Given the description of an element on the screen output the (x, y) to click on. 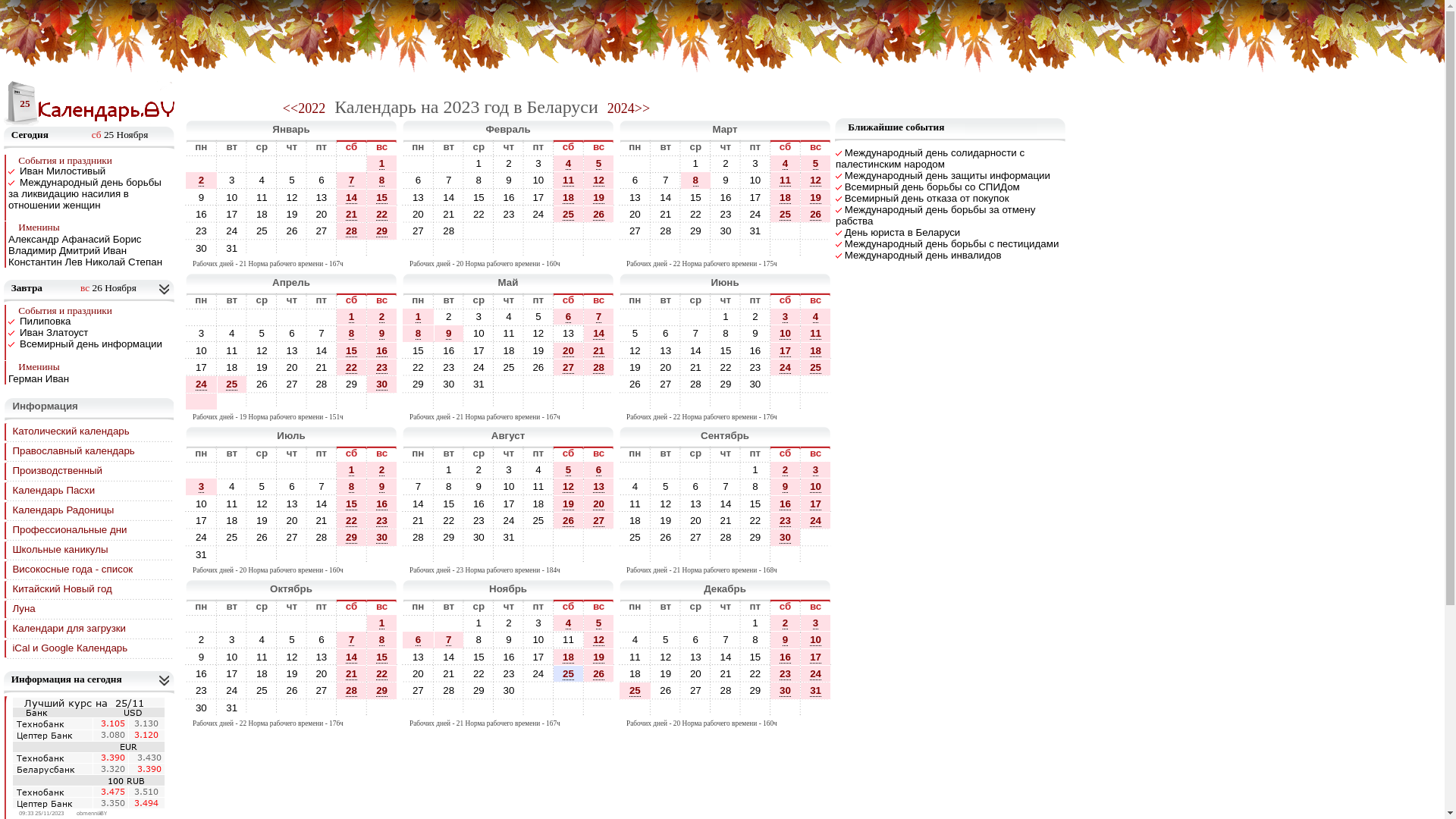
13 Element type: text (665, 350)
15 Element type: text (725, 350)
13 Element type: text (598, 486)
9 Element type: text (479, 486)
20 Element type: text (598, 504)
31 Element type: text (478, 383)
22 Element type: text (448, 520)
2024>> Element type: text (628, 108)
11 Element type: text (815, 333)
  Element type: text (695, 469)
13 Element type: text (568, 332)
13 Element type: text (417, 197)
26 Element type: text (568, 520)
16 Element type: text (200, 214)
10 Element type: text (754, 180)
12 Element type: text (598, 180)
3 Element type: text (508, 469)
10 Element type: text (815, 486)
15 Element type: text (478, 197)
17 Element type: text (784, 351)
28 Element type: text (695, 383)
21 Element type: text (448, 673)
23 Element type: text (201, 690)
9 Element type: text (784, 639)
12 Element type: text (261, 503)
5 Element type: text (261, 486)
10 Element type: text (231, 197)
27 Element type: text (568, 367)
14 Element type: text (448, 657)
30 Element type: text (785, 690)
27 Element type: text (292, 383)
10 Element type: text (537, 639)
  Element type: text (417, 163)
22 Element type: text (695, 214)
  Element type: text (479, 707)
  Element type: text (754, 554)
22 Element type: text (381, 674)
25 Element type: text (568, 214)
15 Element type: text (448, 503)
6 Element type: text (665, 332)
6 Element type: text (634, 180)
4 Element type: text (568, 163)
26 Element type: text (261, 383)
22 Element type: text (478, 213)
22 Element type: text (351, 520)
2 Element type: text (785, 622)
26 Element type: text (262, 537)
9 Element type: text (725, 180)
  Element type: text (568, 248)
27 Element type: text (665, 384)
20 Element type: text (417, 213)
  Element type: text (262, 316)
  Element type: text (634, 401)
23 Element type: text (508, 213)
22 Element type: text (725, 367)
3 Element type: text (200, 332)
25 Element type: text (784, 214)
  Element type: text (538, 384)
20 Element type: text (568, 351)
  Element type: text (665, 163)
18 Element type: text (568, 197)
6 Element type: text (665, 333)
2 Element type: text (478, 469)
  Element type: text (695, 316)
16 Element type: text (784, 504)
26 Element type: text (598, 674)
  Element type: text (321, 248)
19 Element type: text (815, 197)
  Element type: text (479, 401)
16 Element type: text (754, 350)
24 Element type: text (231, 690)
26 Element type: text (815, 214)
29 Element type: text (695, 230)
27 Element type: text (695, 536)
18 Element type: text (815, 351)
14 Element type: text (448, 197)
23 Element type: text (785, 673)
11 Element type: text (634, 657)
  Element type: text (351, 707)
28 Element type: text (725, 536)
30 Element type: text (201, 707)
3 Element type: text (785, 316)
7 Element type: text (725, 486)
21 Element type: text (725, 673)
18 Element type: text (231, 367)
1 Element type: text (695, 163)
18 Element type: text (508, 350)
21 Element type: text (598, 351)
1 Element type: text (448, 469)
24 Element type: text (200, 537)
19 Element type: text (568, 504)
5 Element type: text (665, 639)
29 Element type: text (754, 690)
  Element type: text (508, 230)
11 Element type: text (634, 656)
  Element type: text (634, 707)
  Element type: text (417, 469)
13 Element type: text (292, 503)
24 Element type: text (537, 673)
6 Element type: text (695, 486)
17 Element type: text (200, 520)
  Element type: text (351, 401)
7 Element type: text (598, 316)
25 Element type: text (231, 384)
  Element type: text (231, 554)
  Element type: text (538, 248)
16 Element type: text (381, 351)
19 Element type: text (291, 673)
1 Element type: text (351, 469)
  Element type: text (815, 384)
15 Element type: text (351, 503)
17 Element type: text (201, 367)
21 Element type: text (321, 520)
31 Element type: text (231, 248)
29 Element type: text (381, 690)
19 Element type: text (261, 520)
20 Element type: text (634, 213)
16 Element type: text (448, 350)
13 Element type: text (320, 656)
5 Element type: text (665, 639)
8 Element type: text (417, 333)
8 Element type: text (478, 639)
17 Element type: text (479, 350)
27 Element type: text (634, 230)
20 Element type: text (665, 367)
5 Element type: text (598, 163)
4 Element type: text (634, 639)
6 Element type: text (417, 180)
31 Element type: text (508, 536)
28 Element type: text (417, 537)
7 Element type: text (351, 180)
28 Element type: text (598, 367)
2 Element type: text (508, 163)
29 Element type: text (725, 384)
10 Element type: text (538, 180)
3 Element type: text (231, 639)
7 Element type: text (665, 180)
5 Element type: text (261, 332)
12 Element type: text (292, 197)
21 Element type: text (320, 520)
14 Element type: text (351, 197)
5 Element type: text (568, 470)
16 Element type: text (200, 673)
27 Element type: text (417, 230)
29 Element type: text (351, 537)
15 Element type: text (754, 656)
14 Element type: text (417, 503)
  Element type: text (665, 707)
21 Element type: text (695, 367)
8 Element type: text (351, 333)
15 Element type: text (351, 504)
24 Element type: text (538, 214)
23 Element type: text (479, 520)
30 Element type: text (725, 230)
24 Element type: text (479, 367)
25 Element type: text (785, 214)
27 Element type: text (634, 230)
8 Element type: text (448, 486)
4 Element type: text (634, 486)
14 Element type: text (320, 503)
2 Element type: text (448, 316)
2 Element type: text (200, 639)
23 Element type: text (381, 367)
13 Element type: text (665, 350)
5 Element type: text (815, 163)
30 Element type: text (784, 537)
19 Element type: text (568, 503)
22 Element type: text (754, 673)
12 Element type: text (634, 350)
  Element type: text (448, 163)
4 Element type: text (815, 316)
18 Element type: text (537, 503)
2 Element type: text (754, 316)
11 Element type: text (568, 639)
6 Element type: text (598, 470)
21 Element type: text (448, 213)
24 Element type: text (538, 673)
  Element type: text (634, 469)
10 Element type: text (785, 333)
3 Element type: text (478, 316)
31 Element type: text (231, 248)
  Element type: text (598, 384)
7 Element type: text (448, 180)
27 Element type: text (665, 383)
12 Element type: text (291, 657)
28 Element type: text (351, 690)
5 Element type: text (291, 639)
29 Element type: text (417, 383)
20 Element type: text (598, 503)
29 Element type: text (479, 690)
8 Element type: text (479, 639)
17 Element type: text (508, 503)
  Element type: text (665, 401)
31 Element type: text (231, 707)
9 Element type: text (478, 486)
13 Element type: text (695, 657)
30 Element type: text (784, 690)
31 Element type: text (200, 554)
  Element type: text (695, 248)
4 Element type: text (634, 639)
27 Element type: text (695, 690)
20 Element type: text (568, 350)
14 Element type: text (598, 333)
5 Element type: text (665, 486)
25 Element type: text (231, 384)
  Element type: text (200, 622)
5 Element type: text (634, 332)
3 Element type: text (815, 622)
23 Element type: text (448, 367)
23 Element type: text (754, 367)
  Element type: text (598, 537)
28 Element type: text (725, 690)
11 Element type: text (785, 180)
23 Element type: text (508, 673)
16 Element type: text (508, 656)
24 Element type: text (785, 367)
26 Element type: text (634, 384)
6 Element type: text (568, 316)
23 Element type: text (381, 367)
2 Element type: text (381, 316)
2 Element type: text (784, 470)
9 Element type: text (784, 486)
11 Element type: text (537, 486)
13 Element type: text (634, 197)
15 Element type: text (754, 503)
5 Element type: text (291, 639)
  Element type: text (448, 622)
18 Element type: text (634, 673)
30 Element type: text (508, 690)
4 Element type: text (568, 622)
3 Element type: text (200, 486)
17 Element type: text (231, 673)
25 Element type: text (634, 536)
13 Element type: text (598, 486)
16 Element type: text (201, 673)
20 Element type: text (292, 520)
  Element type: text (321, 469)
  Element type: text (479, 230)
14 Element type: text (351, 657)
28 Element type: text (351, 230)
14 Element type: text (695, 350)
6 Element type: text (291, 332)
13 Element type: text (321, 657)
27 Element type: text (320, 230)
16 Element type: text (508, 197)
11 Element type: text (231, 503)
2 Element type: text (381, 470)
5 Element type: text (291, 180)
15 Element type: text (417, 350)
27 Element type: text (695, 537)
25 Element type: text (815, 367)
19 Element type: text (665, 520)
  Element type: text (291, 248)
2 Element type: text (200, 180)
20 Element type: text (417, 214)
  Element type: text (568, 707)
24 Element type: text (815, 673)
  Element type: text (508, 554)
  Element type: text (815, 401)
16 Element type: text (479, 503)
14 Element type: text (665, 197)
22 Element type: text (381, 214)
11 Element type: text (231, 350)
16 Element type: text (381, 504)
15 Element type: text (448, 503)
19 Element type: text (598, 197)
27 Element type: text (598, 520)
24 Element type: text (508, 520)
24 Element type: text (537, 213)
19 Element type: text (634, 367)
12 Element type: text (598, 639)
21 Element type: text (351, 674)
23 Element type: text (200, 690)
2 Element type: text (508, 622)
27 Element type: text (568, 367)
4 Element type: text (261, 179)
31 Element type: text (815, 690)
20 Element type: text (320, 673)
23 Element type: text (508, 214)
2 Element type: text (381, 316)
  Element type: text (695, 622)
8 Element type: text (351, 486)
16 Element type: text (478, 503)
3 Element type: text (231, 639)
3 Element type: text (784, 316)
10 Element type: text (200, 503)
30 Element type: text (381, 384)
15 Element type: text (479, 197)
  Element type: text (695, 554)
1 Element type: text (381, 623)
20 Element type: text (292, 367)
17 Element type: text (815, 503)
1 Element type: text (381, 622)
9 Element type: text (200, 657)
9 Element type: text (200, 656)
22 Element type: text (417, 367)
8 Element type: text (725, 333)
25 Element type: text (231, 536)
  Element type: text (568, 554)
24 Element type: text (815, 674)
28 Element type: text (321, 384)
30 Element type: text (754, 383)
16 Element type: text (725, 197)
  Element type: text (695, 707)
10 Element type: text (231, 197)
17 Element type: text (200, 367)
24 Element type: text (231, 230)
  Element type: text (417, 707)
16 Element type: text (785, 503)
12 Element type: text (568, 486)
  Element type: text (665, 469)
8 Element type: text (381, 180)
27 Element type: text (291, 384)
12 Element type: text (538, 333)
  Element type: text (291, 401)
11 Element type: text (231, 350)
10 Element type: text (508, 486)
14 Element type: text (448, 197)
8 Element type: text (478, 179)
29 Element type: text (351, 537)
  Element type: text (785, 248)
21 Element type: text (320, 367)
10 Element type: text (201, 350)
25 Element type: text (508, 367)
18 Element type: text (634, 673)
  Element type: text (665, 622)
17 Element type: text (538, 657)
25 Element type: text (262, 230)
1 Element type: text (725, 316)
15 Element type: text (351, 350)
  Element type: text (291, 622)
29 Element type: text (417, 384)
  Element type: text (508, 401)
3 Element type: text (231, 180)
30 Element type: text (725, 230)
  Element type: text (262, 401)
19 Element type: text (292, 673)
  Element type: text (291, 469)
14 Element type: text (725, 503)
7 Element type: text (351, 639)
18 Element type: text (231, 367)
27 Element type: text (292, 536)
3 Element type: text (537, 163)
17 Element type: text (538, 197)
26 Element type: text (634, 383)
2 Element type: text (479, 469)
  Element type: text (479, 248)
18 Element type: text (568, 657)
14 Element type: text (351, 657)
24 Element type: text (201, 536)
29 Element type: text (695, 230)
6 Element type: text (291, 486)
27 Element type: text (417, 230)
  Element type: text (321, 622)
19 Element type: text (665, 520)
29 Element type: text (448, 536)
  Element type: text (725, 401)
  Element type: text (665, 554)
14 Element type: text (321, 503)
22 Element type: text (754, 673)
  Element type: text (598, 707)
30 Element type: text (754, 384)
29 Element type: text (725, 383)
4 Element type: text (508, 316)
25 Element type: text (262, 690)
29 Element type: text (381, 230)
7 Element type: text (695, 332)
27 Element type: text (598, 520)
3 Element type: text (537, 622)
5 Element type: text (291, 179)
30 Element type: text (201, 248)
28 Element type: text (351, 690)
3 Element type: text (538, 622)
28 Element type: text (320, 383)
2 Element type: text (381, 469)
23 Element type: text (754, 367)
28 Element type: text (351, 231)
21 Element type: text (598, 350)
23 Element type: text (381, 520)
28 Element type: text (665, 230)
  Element type: text (815, 707)
16 Element type: text (381, 503)
13 Element type: text (417, 657)
9 Element type: text (200, 197)
17 Element type: text (754, 197)
8 Element type: text (417, 333)
21 Element type: text (351, 214)
2 Element type: text (785, 469)
11 Element type: text (261, 197)
  Element type: text (634, 248)
17 Element type: text (754, 197)
15 Element type: text (351, 351)
18 Element type: text (815, 350)
2 Element type: text (725, 163)
1 Element type: text (381, 163)
12 Element type: text (665, 656)
5 Element type: text (598, 623)
12 Element type: text (598, 639)
2 Element type: text (754, 316)
  Element type: text (568, 384)
  Element type: text (598, 248)
12 Element type: text (665, 657)
1 Element type: text (725, 316)
8 Element type: text (448, 486)
  Element type: text (634, 554)
26 Element type: text (292, 690)
  Element type: text (262, 469)
19 Element type: text (537, 350)
  Element type: text (568, 401)
21 Element type: text (417, 520)
14 Element type: text (725, 656)
26 Element type: text (261, 536)
22 Element type: text (448, 520)
4 Element type: text (261, 639)
4 Element type: text (231, 332)
7 Element type: text (448, 179)
3 Element type: text (479, 316)
4 Element type: text (784, 163)
  Element type: text (725, 707)
16 Element type: text (508, 197)
11 Element type: text (231, 503)
5 Element type: text (537, 316)
3 Element type: text (815, 469)
11 Element type: text (538, 486)
4 Element type: text (815, 316)
28 Element type: text (725, 690)
8 Element type: text (381, 639)
20 Element type: text (291, 520)
27 Element type: text (417, 690)
19 Element type: text (262, 367)
  Element type: text (417, 401)
21 Element type: text (321, 367)
13 Element type: text (695, 656)
8 Element type: text (754, 639)
4 Element type: text (262, 180)
16 Element type: text (784, 657)
16 Element type: text (201, 213)
2 Element type: text (508, 622)
   25 Element type: text (21, 103)
  Element type: text (634, 622)
20 Element type: text (695, 520)
17 Element type: text (815, 657)
  Element type: text (351, 622)
28 Element type: text (448, 690)
  Element type: text (725, 469)
  Element type: text (815, 230)
15 Element type: text (478, 656)
26 Element type: text (815, 214)
26 Element type: text (665, 690)
23 Element type: text (784, 520)
29 Element type: text (351, 384)
19 Element type: text (634, 367)
22 Element type: text (478, 673)
29 Element type: text (754, 690)
23 Element type: text (478, 520)
22 Element type: text (381, 214)
  Element type: text (262, 248)
9 Element type: text (508, 639)
17 Element type: text (231, 673)
18 Element type: text (231, 520)
3 Element type: text (815, 470)
  Element type: text (568, 690)
1 Element type: text (448, 469)
10 Element type: text (538, 639)
3 Element type: text (754, 163)
5 Element type: text (262, 333)
9 Element type: text (381, 333)
22 Element type: text (351, 367)
11 Element type: text (784, 180)
10 Element type: text (201, 503)
31 Element type: text (508, 537)
17 Element type: text (537, 197)
19 Element type: text (292, 213)
5 Element type: text (634, 333)
19 Element type: text (262, 520)
26 Element type: text (291, 690)
10 Element type: text (537, 179)
19 Element type: text (598, 657)
7 Element type: text (417, 486)
4 Element type: text (231, 486)
25 Element type: text (568, 214)
9 Element type: text (785, 639)
8 Element type: text (381, 180)
8 Element type: text (725, 332)
2 Element type: text (725, 163)
6 Element type: text (695, 639)
1 Element type: text (754, 622)
16 Element type: text (785, 657)
6 Element type: text (695, 486)
20 Element type: text (321, 673)
28 Element type: text (448, 230)
  Element type: text (785, 401)
12 Element type: text (665, 503)
1 Element type: text (479, 622)
  Element type: text (568, 537)
29 Element type: text (754, 536)
1 Element type: text (381, 163)
5 Element type: text (598, 622)
  Element type: text (291, 554)
  Element type: text (231, 622)
18 Element type: text (784, 197)
20 Element type: text (417, 673)
14 Element type: text (321, 350)
13 Element type: text (695, 503)
  Element type: text (665, 316)
26 Element type: text (598, 673)
17 Element type: text (815, 657)
14 Element type: text (448, 656)
29 Element type: text (478, 690)
21 Element type: text (448, 214)
  Element type: text (785, 554)
13 Element type: text (634, 197)
  Element type: text (351, 163)
18 Element type: text (508, 350)
12 Element type: text (261, 350)
24 Element type: text (508, 520)
  Element type: text (754, 248)
14 Element type: text (417, 503)
23 Element type: text (201, 230)
  Element type: text (538, 537)
25 Element type: text (537, 520)
17 Element type: text (508, 503)
8 Element type: text (479, 180)
11 Element type: text (508, 332)
10 Element type: text (231, 656)
20 Element type: text (417, 673)
  Element type: text (568, 230)
15 Element type: text (381, 197)
15 Element type: text (725, 350)
6 Element type: text (320, 639)
11 Element type: text (634, 503)
  Element type: text (262, 622)
7 Element type: text (448, 639)
5 Element type: text (665, 486)
9 Element type: text (448, 333)
30 Element type: text (381, 537)
7 Element type: text (448, 639)
13 Element type: text (291, 350)
7 Element type: text (725, 486)
  Element type: text (538, 707)
2 Element type: text (784, 623)
7 Element type: text (351, 639)
2 Element type: text (200, 180)
  Element type: text (381, 707)
8 Element type: text (351, 486)
  Element type: text (695, 401)
31 Element type: text (754, 230)
16 Element type: text (448, 350)
26 Element type: text (262, 384)
  Element type: text (598, 401)
6 Element type: text (695, 639)
6 Element type: text (291, 486)
18 Element type: text (231, 520)
12 Element type: text (292, 656)
30 Element type: text (200, 248)
21 Element type: text (448, 673)
8 Element type: text (754, 486)
11 Element type: text (508, 333)
4 Element type: text (568, 163)
10 Element type: text (508, 486)
19 Element type: text (815, 197)
  Element type: text (634, 316)
22 Element type: text (381, 673)
8 Element type: text (381, 639)
  Element type: text (754, 707)
4 Element type: text (785, 163)
28 Element type: text (417, 536)
18 Element type: text (262, 673)
26 Element type: text (291, 230)
24 Element type: text (754, 214)
20 Element type: text (665, 367)
  Element type: text (508, 384)
23 Element type: text (784, 674)
14 Element type: text (598, 333)
26 Element type: text (568, 520)
13 Element type: text (291, 503)
19 Element type: text (598, 657)
28 Element type: text (695, 384)
25 Element type: text (261, 690)
  Element type: text (754, 401)
  Element type: text (538, 554)
2 Element type: text (200, 639)
  Element type: text (381, 248)
7 Element type: text (725, 639)
4 Element type: text (537, 469)
21 Element type: text (351, 673)
19 Element type: text (665, 673)
  Element type: text (321, 401)
  Element type: text (598, 230)
30 Element type: text (381, 384)
26 Element type: text (598, 214)
18 Element type: text (785, 197)
  Element type: text (231, 469)
5 Element type: text (598, 163)
13 Element type: text (320, 197)
  Element type: text (351, 248)
15 Element type: text (381, 657)
12 Element type: text (634, 350)
1 Element type: text (479, 163)
6 Element type: text (634, 179)
  Element type: text (200, 469)
21 Element type: text (351, 214)
  Element type: text (262, 707)
  Element type: text (815, 248)
17 Element type: text (478, 350)
7 Element type: text (320, 332)
24 Element type: text (201, 384)
1 Element type: text (754, 622)
30 Element type: text (508, 690)
30 Element type: text (479, 537)
29 Element type: text (381, 690)
26 Element type: text (665, 536)
3 Element type: text (231, 179)
31 Element type: text (479, 384)
  Element type: text (321, 316)
19 Element type: text (538, 350)
21 Element type: text (725, 520)
5 Element type: text (815, 163)
21 Element type: text (725, 673)
28 Element type: text (448, 690)
7 Element type: text (321, 486)
27 Element type: text (695, 690)
31 Element type: text (231, 707)
13 Element type: text (417, 197)
14 Element type: text (320, 350)
4 Element type: text (231, 486)
6 Element type: text (417, 639)
  Element type: text (598, 554)
15 Element type: text (479, 657)
25 Element type: text (538, 520)
  Element type: text (448, 401)
13 Element type: text (568, 333)
20 Element type: text (321, 214)
15 Element type: text (381, 197)
25 Element type: text (508, 367)
17 Element type: text (815, 504)
  Element type: text (785, 384)
24 Element type: text (231, 690)
16 Element type: text (508, 657)
30 Element type: text (785, 537)
18 Element type: text (634, 520)
30 Element type: text (381, 537)
11 Element type: text (568, 180)
9 Element type: text (381, 486)
9 Element type: text (508, 179)
  Element type: text (508, 248)
  Element type: text (231, 163)
9 Element type: text (508, 639)
27 Element type: text (417, 690)
1 Element type: text (695, 163)
  Element type: text (785, 707)
6 Element type: text (417, 639)
26 Element type: text (538, 367)
6 Element type: text (598, 469)
22 Element type: text (351, 520)
  Element type: text (381, 401)
3 Element type: text (508, 469)
  Element type: text (231, 316)
28 Element type: text (448, 230)
4 Element type: text (262, 639)
10 Element type: text (479, 333)
  Element type: text (725, 622)
20 Element type: text (695, 673)
12 Element type: text (568, 486)
4 Element type: text (231, 333)
9 Element type: text (381, 333)
8 Element type: text (351, 333)
  Element type: text (291, 316)
  Element type: text (200, 316)
21 Element type: text (417, 520)
19 Element type: text (291, 214)
5 Element type: text (262, 486)
28 Element type: text (320, 536)
9 Element type: text (785, 486)
27 Element type: text (321, 230)
  Element type: text (231, 401)
26 Element type: text (598, 214)
25 Element type: text (815, 367)
10 Element type: text (815, 639)
7 Element type: text (665, 179)
24 Element type: text (478, 367)
  Element type: text (725, 554)
11 Element type: text (568, 639)
  Element type: text (200, 401)
7 Element type: text (598, 316)
21 Element type: text (725, 520)
  Element type: text (291, 707)
8 Element type: text (695, 180)
27 Element type: text (320, 690)
7 Element type: text (320, 486)
3 Element type: text (200, 333)
23 Element type: text (448, 367)
13 Element type: text (292, 350)
  Element type: text (725, 248)
31 Element type: text (754, 230)
18 Element type: text (538, 503)
11 Element type: text (262, 657)
23 Element type: text (725, 214)
22 Element type: text (479, 214)
21 Element type: text (665, 213)
10 Element type: text (754, 179)
11 Element type: text (261, 656)
17 Element type: text (231, 213)
1 Element type: text (417, 316)
29 Element type: text (351, 383)
16 Element type: text (725, 197)
9 Element type: text (200, 197)
2 Element type: text (508, 163)
14 Element type: text (695, 350)
17 Element type: text (785, 350)
24 Element type: text (784, 367)
  Element type: text (508, 707)
13 Element type: text (695, 503)
22 Element type: text (725, 367)
  Element type: text (448, 554)
15 Element type: text (695, 197)
21 Element type: text (665, 214)
15 Element type: text (381, 657)
12 Element type: text (291, 197)
11 Element type: text (262, 197)
22 Element type: text (417, 367)
3 Element type: text (754, 163)
3 Element type: text (815, 623)
7 Element type: text (321, 333)
6 Element type: text (568, 316)
23 Element type: text (381, 520)
1 Element type: text (417, 316)
30 Element type: text (478, 536)
3 Element type: text (200, 486)
7 Element type: text (725, 639)
29 Element type: text (754, 537)
  Element type: text (262, 163)
9 Element type: text (754, 332)
17 Element type: text (537, 656)
  Element type: text (321, 554)
4 Element type: text (508, 316)
19 Element type: text (598, 197)
14 Element type: text (351, 197)
22 Element type: text (754, 520)
25 Element type: text (568, 673)
15 Element type: text (417, 350)
18 Element type: text (261, 213)
14 Element type: text (725, 503)
1 Element type: text (351, 470)
8 Element type: text (754, 486)
18 Element type: text (262, 214)
  Element type: text (291, 163)
10 Element type: text (815, 639)
1 Element type: text (754, 469)
21 Element type: text (695, 367)
15 Element type: text (695, 197)
18 Element type: text (568, 657)
  Element type: text (417, 554)
  Element type: text (479, 554)
12 Element type: text (598, 180)
27 Element type: text (321, 690)
  Element type: text (634, 163)
1 Element type: text (351, 316)
22 Element type: text (479, 673)
6 Element type: text (321, 180)
26 Element type: text (665, 690)
26 Element type: text (537, 367)
28 Element type: text (725, 537)
14 Element type: text (725, 657)
  Element type: text (448, 707)
12 Element type: text (537, 332)
1 Element type: text (754, 469)
18 Element type: text (634, 520)
30 Element type: text (200, 707)
1 Element type: text (351, 316)
5 Element type: text (568, 469)
15 Element type: text (754, 657)
9 Element type: text (725, 179)
18 Element type: text (261, 673)
16 Element type: text (381, 350)
  Element type: text (200, 163)
12 Element type: text (262, 503)
10 Element type: text (815, 486)
6 Element type: text (291, 333)
4 Element type: text (538, 469)
9 Element type: text (448, 333)
19 Element type: text (665, 673)
  Element type: text (417, 248)
11 Element type: text (634, 503)
6 Element type: text (321, 639)
<<2022 Element type: text (303, 108)
13 Element type: text (417, 656)
24 Element type: text (815, 520)
12 Element type: text (262, 350)
1 Element type: text (478, 622)
  Element type: text (538, 690)
28 Element type: text (598, 367)
5 Element type: text (538, 316)
7 Element type: text (695, 333)
2 Element type: text (448, 316)
11 Element type: text (815, 333)
  Element type: text (321, 707)
9 Element type: text (754, 333)
29 Element type: text (448, 537)
24 Element type: text (815, 520)
20 Element type: text (695, 673)
20 Element type: text (695, 520)
30 Element type: text (448, 384)
8 Element type: text (754, 639)
9 Element type: text (508, 180)
19 Element type: text (261, 367)
27 Element type: text (291, 537)
12 Element type: text (665, 503)
30 Element type: text (448, 383)
12 Element type: text (815, 180)
  Element type: text (321, 163)
10 Element type: text (200, 350)
28 Element type: text (665, 230)
  Element type: text (538, 230)
  Element type: text (785, 230)
17 Element type: text (231, 214)
23 Element type: text (725, 213)
  Element type: text (815, 537)
3 Element type: text (538, 163)
  Element type: text (381, 554)
22 Element type: text (695, 213)
  Element type: text (417, 622)
25 Element type: text (261, 230)
  Element type: text (351, 554)
20 Element type: text (634, 214)
17 Element type: text (201, 520)
18 Element type: text (568, 197)
13 Element type: text (321, 197)
31 Element type: text (201, 554)
15 Element type: text (754, 503)
  Element type: text (448, 248)
23 Element type: text (508, 673)
28 Element type: text (321, 537)
11 Element type: text (568, 180)
10 Element type: text (478, 332)
25 Element type: text (634, 537)
22 Element type: text (754, 520)
6 Element type: text (320, 179)
25 Element type: text (231, 537)
1 Element type: text (478, 163)
26 Element type: text (665, 537)
20 Element type: text (320, 213)
10 Element type: text (784, 333)
10 Element type: text (231, 657)
6 Element type: text (417, 179)
23 Element type: text (785, 520)
  Element type: text (538, 401)
  Element type: text (665, 248)
16 Element type: text (754, 350)
  Element type: text (262, 554)
12 Element type: text (815, 180)
23 Element type: text (200, 230)
  Element type: text (815, 554)
7 Element type: text (417, 486)
9 Element type: text (381, 486)
31 Element type: text (815, 690)
7 Element type: text (351, 180)
4 Element type: text (634, 486)
25 Element type: text (568, 674)
25 Element type: text (634, 690)
24 Element type: text (231, 230)
  Element type: text (598, 690)
8 Element type: text (695, 180)
25 Element type: text (634, 690)
29 Element type: text (381, 231)
22 Element type: text (351, 367)
26 Element type: text (292, 230)
24 Element type: text (754, 213)
24 Element type: text (200, 384)
14 Element type: text (665, 197)
4 Element type: text (568, 623)
20 Element type: text (291, 367)
